Given the description of an element on the screen output the (x, y) to click on. 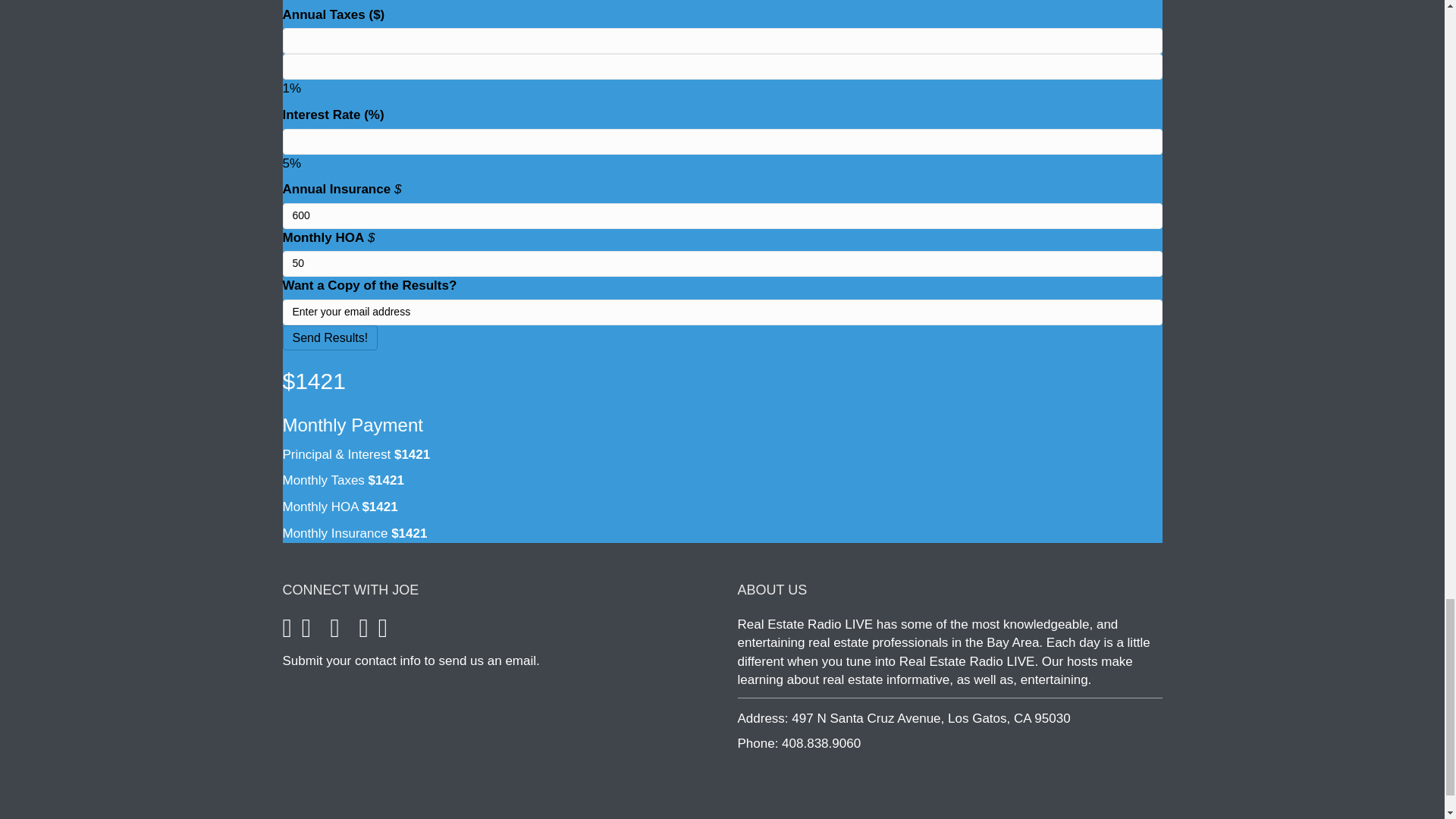
Visit Real Estate Radio LIVE on Instagram (334, 632)
Send Results! (329, 337)
600 (721, 216)
Visit Real Estate Radio LIVE on Twitter (306, 632)
Visit Real Estate Radio LIVE on Facebook (286, 632)
Visit Real Estate Radio LIVE on Pinterest (363, 632)
Visit Real Estate Radio LIVE on LinkedIn (382, 632)
50 (721, 263)
Tax Slider (721, 66)
